Given the description of an element on the screen output the (x, y) to click on. 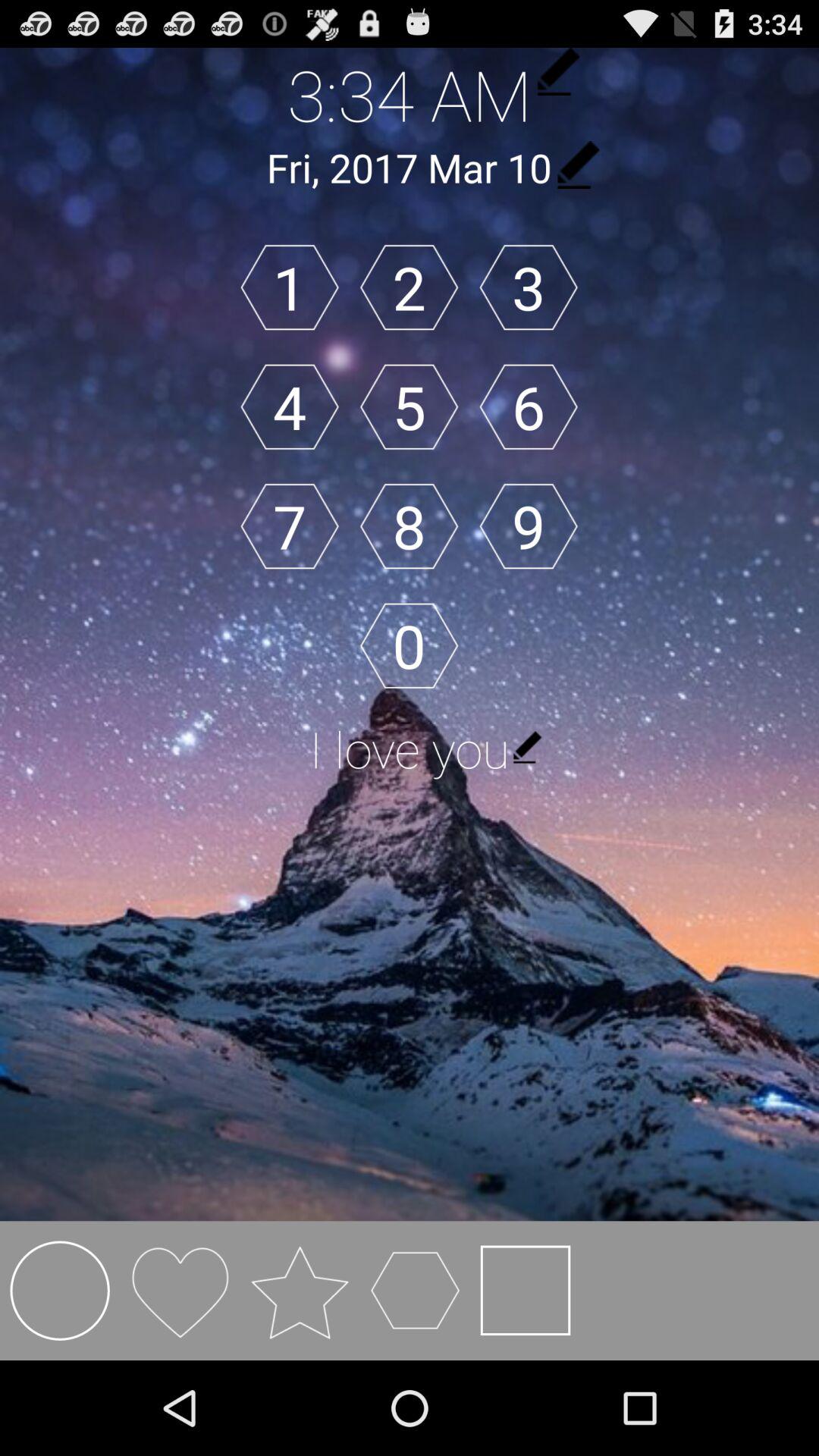
jump to the 2 item (408, 287)
